Given the description of an element on the screen output the (x, y) to click on. 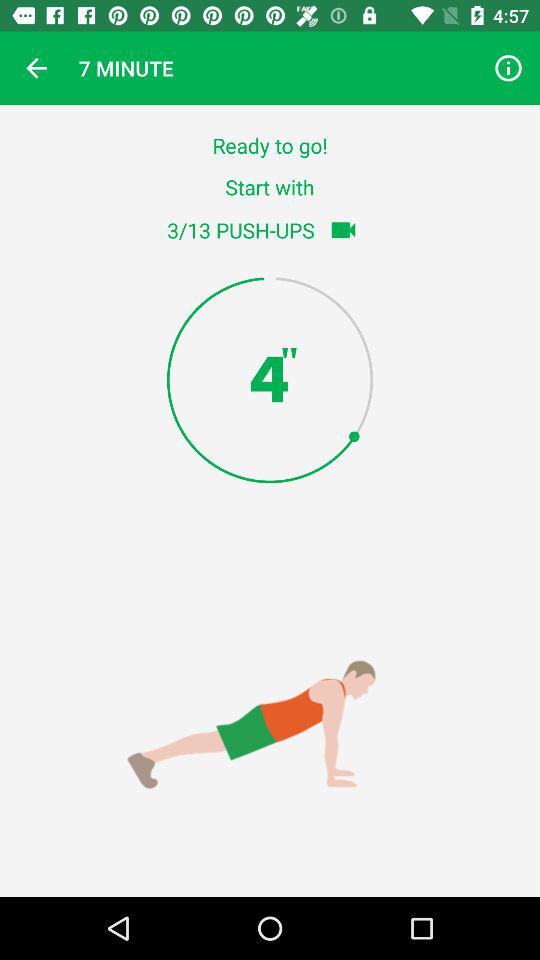
click item at the top right corner (508, 67)
